Given the description of an element on the screen output the (x, y) to click on. 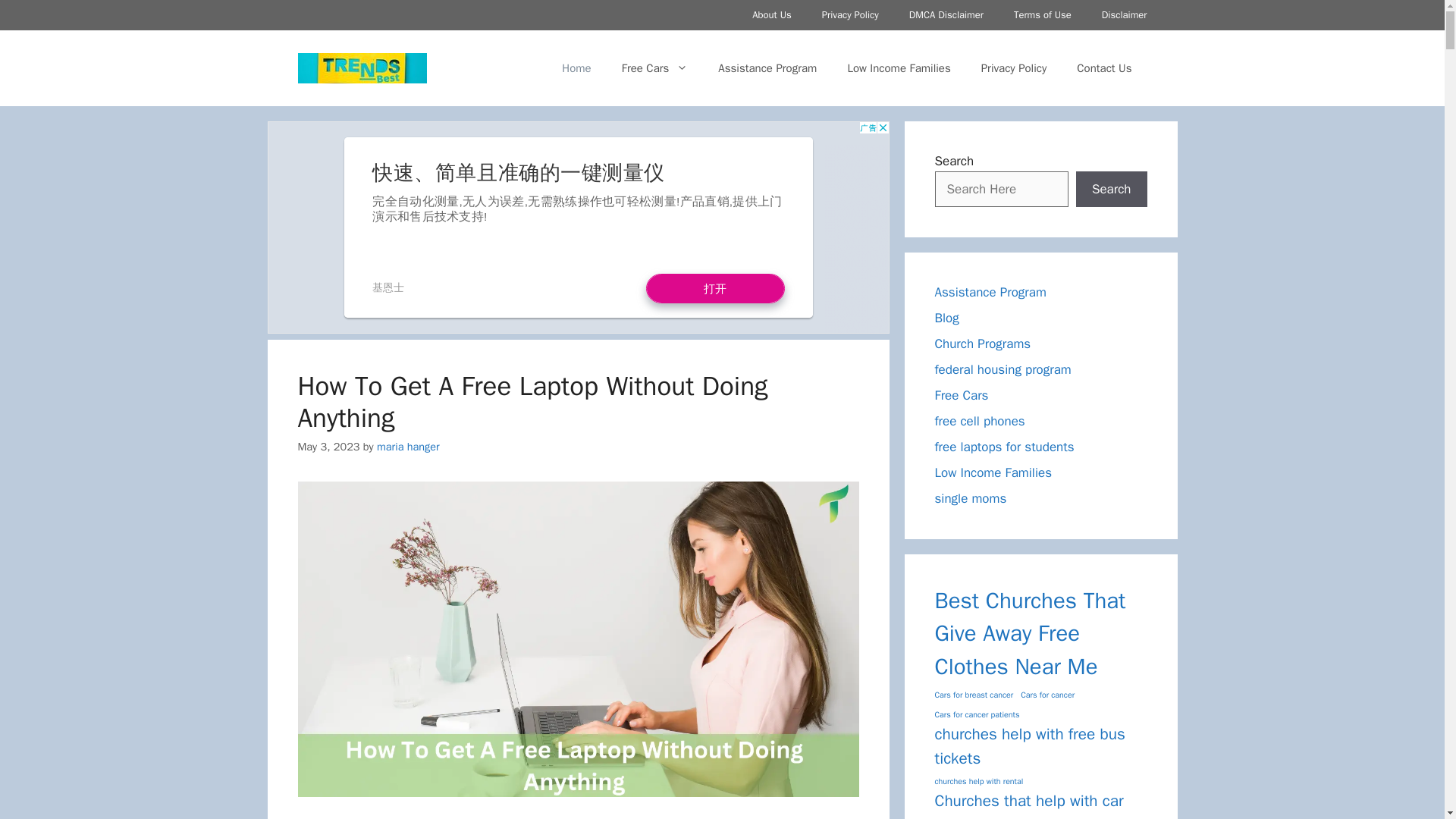
Disclaimer (1123, 15)
Contact Us (1104, 67)
Privacy Policy (849, 15)
maria hanger (408, 446)
Terms of Use (1042, 15)
About Us (771, 15)
Assistance Program (767, 67)
DMCA Disclaimer (945, 15)
Free Cars (655, 67)
Advertisement (577, 227)
How To Get A Free Laptop Without Doing Anything (532, 401)
View all posts by maria hanger (408, 446)
Privacy Policy (1014, 67)
Home (576, 67)
